Given the description of an element on the screen output the (x, y) to click on. 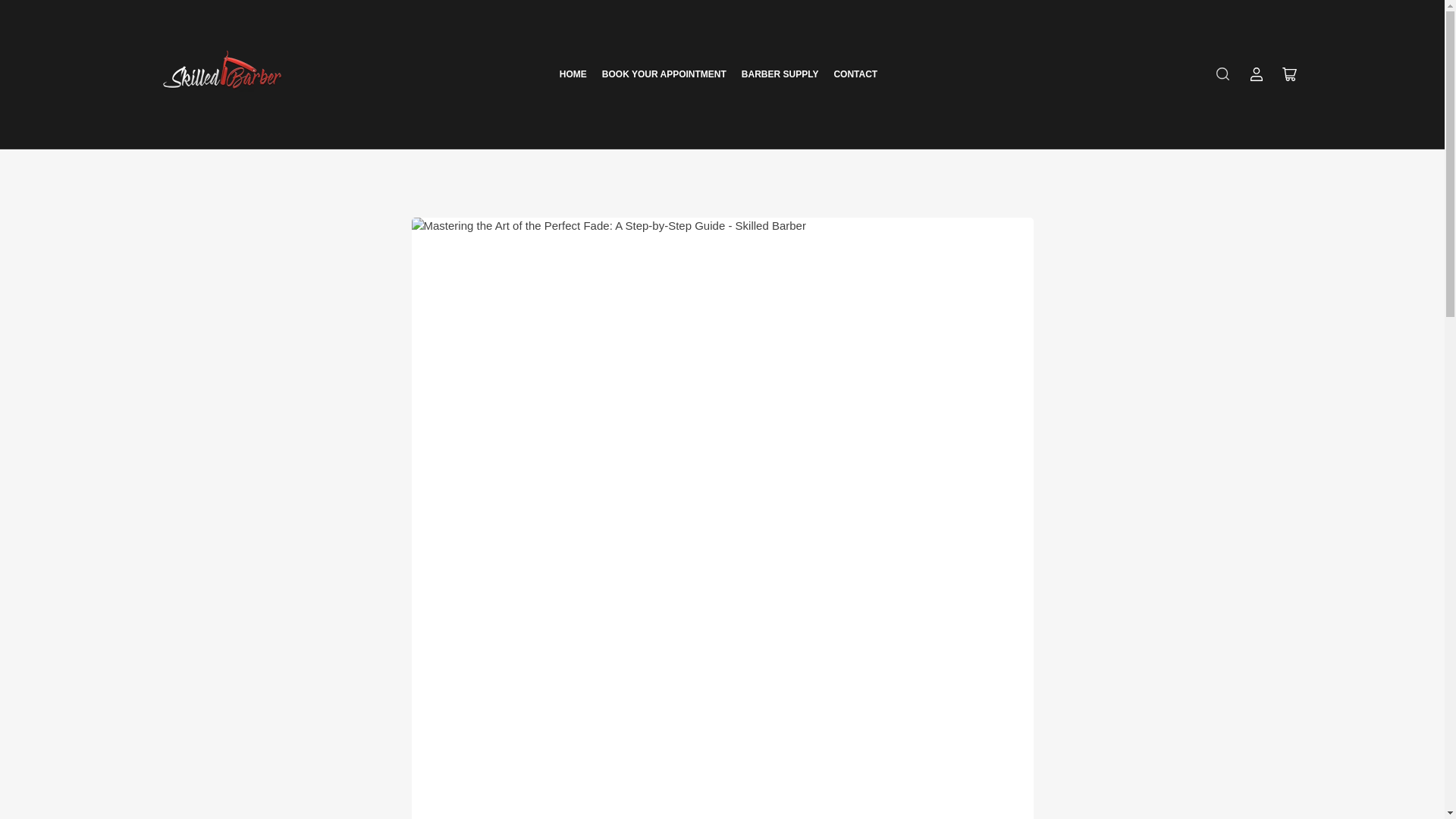
Open mini cart (1289, 73)
BARBER SUPPLY (779, 74)
CONTACT (854, 74)
HOME (572, 74)
BOOK YOUR APPOINTMENT (664, 74)
Log in (1255, 73)
